Given the description of an element on the screen output the (x, y) to click on. 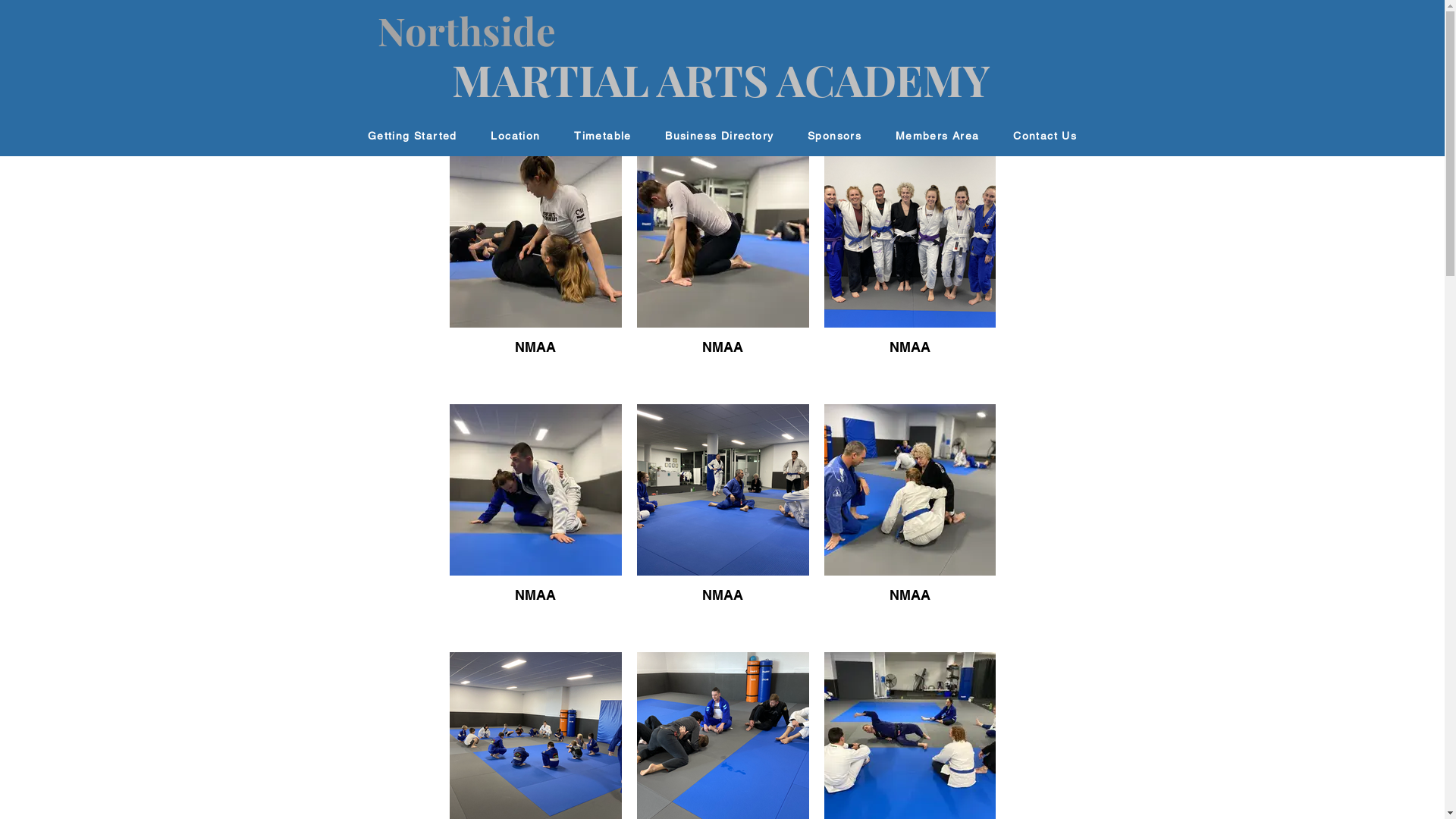
Contact Us Element type: text (1045, 136)
Location Element type: text (515, 136)
Timetable Element type: text (602, 136)
Sponsors Element type: text (834, 136)
Northside Element type: text (466, 28)
Members Area Element type: text (937, 136)
Business Directory Element type: text (719, 136)
MARTIAL ARTS ACADEMY Element type: text (720, 78)
